Given the description of an element on the screen output the (x, y) to click on. 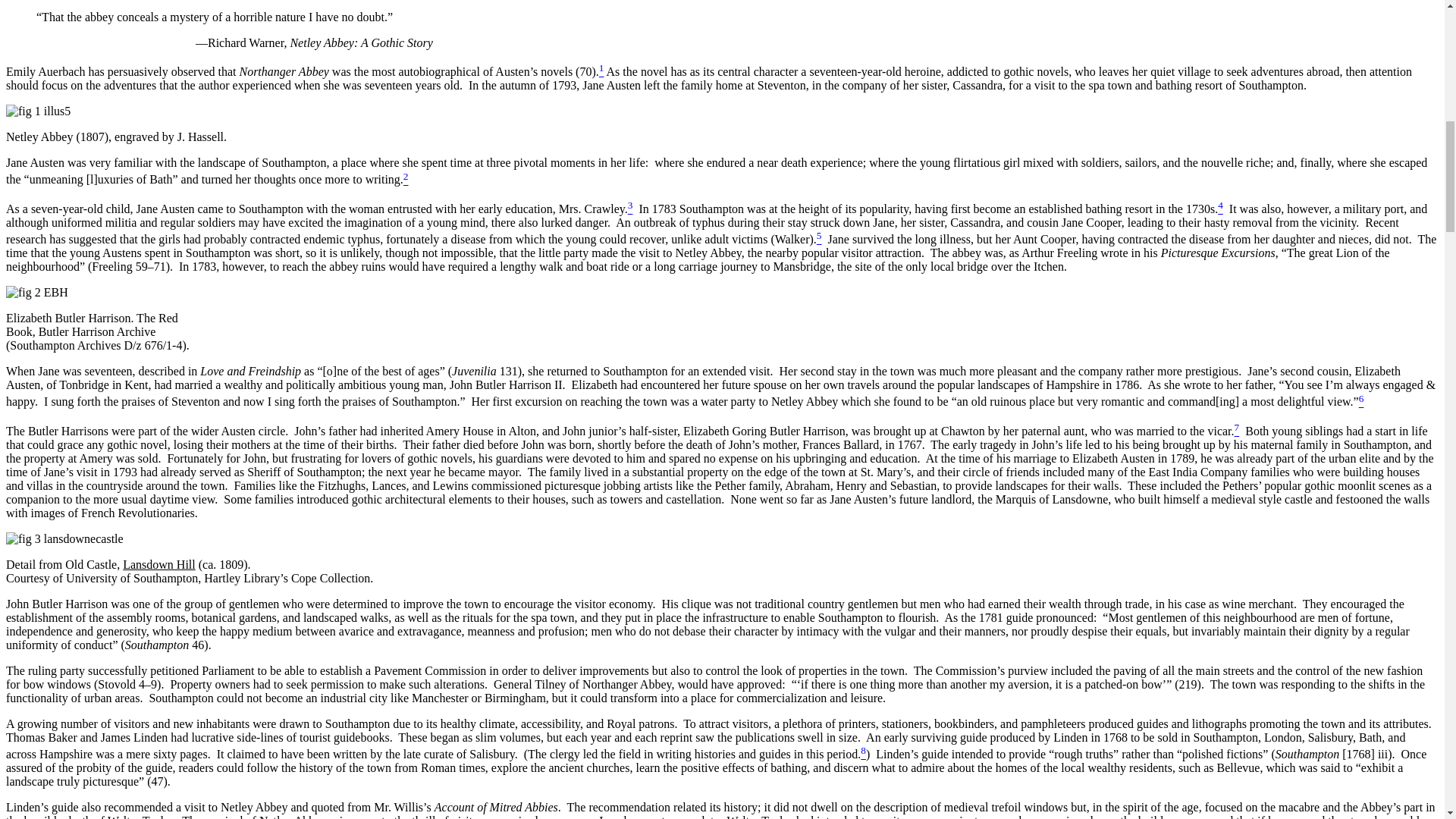
fig 1 illus5 (37, 110)
fig 2 EBH (36, 292)
fig 3 lansdownecastle (64, 539)
